Given the description of an element on the screen output the (x, y) to click on. 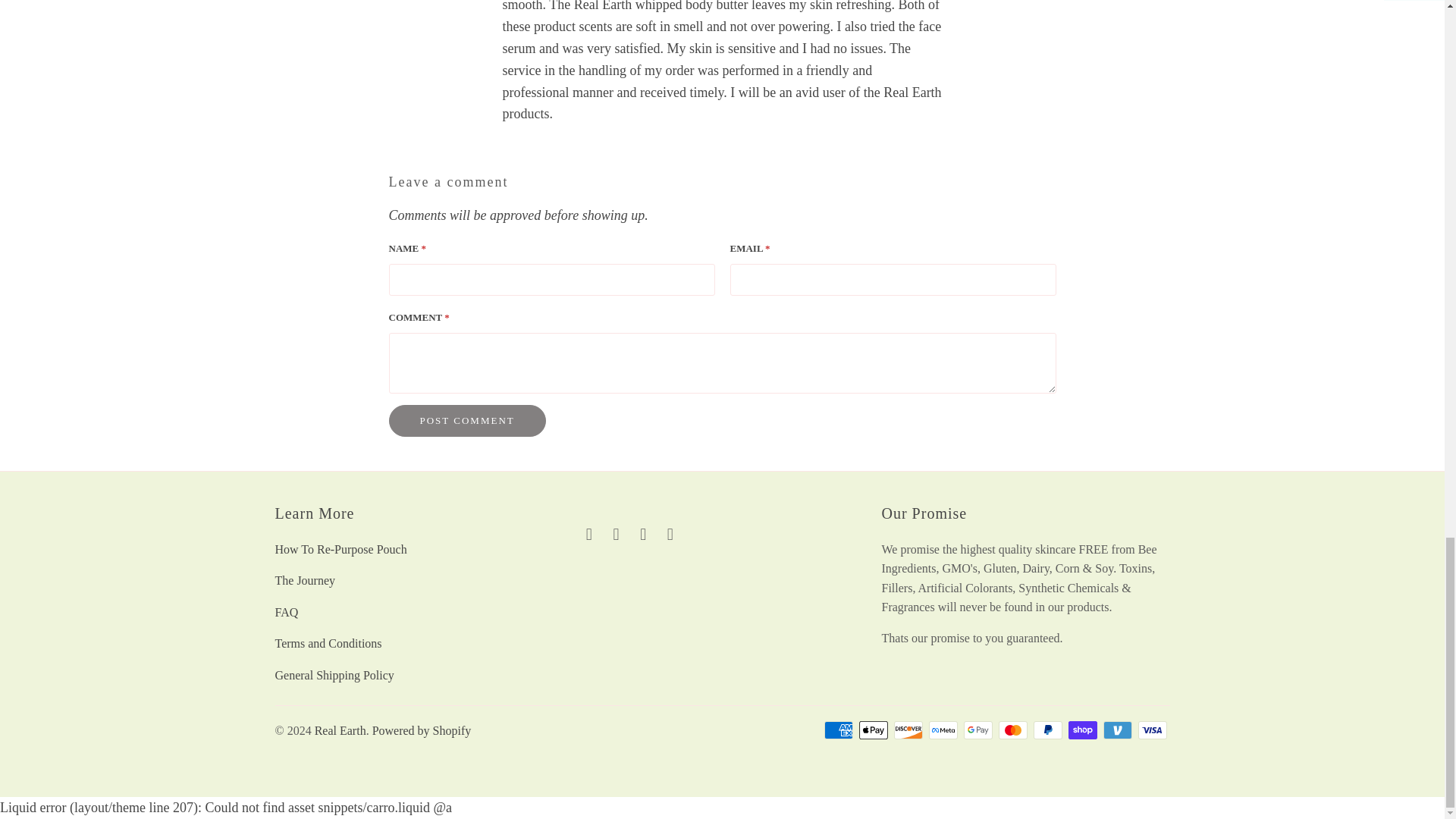
Email Real Earth (670, 534)
Real Earth on Facebook (588, 534)
Real Earth on Instagram (643, 534)
Real Earth on Pinterest (616, 534)
Post comment (466, 420)
